Given the description of an element on the screen output the (x, y) to click on. 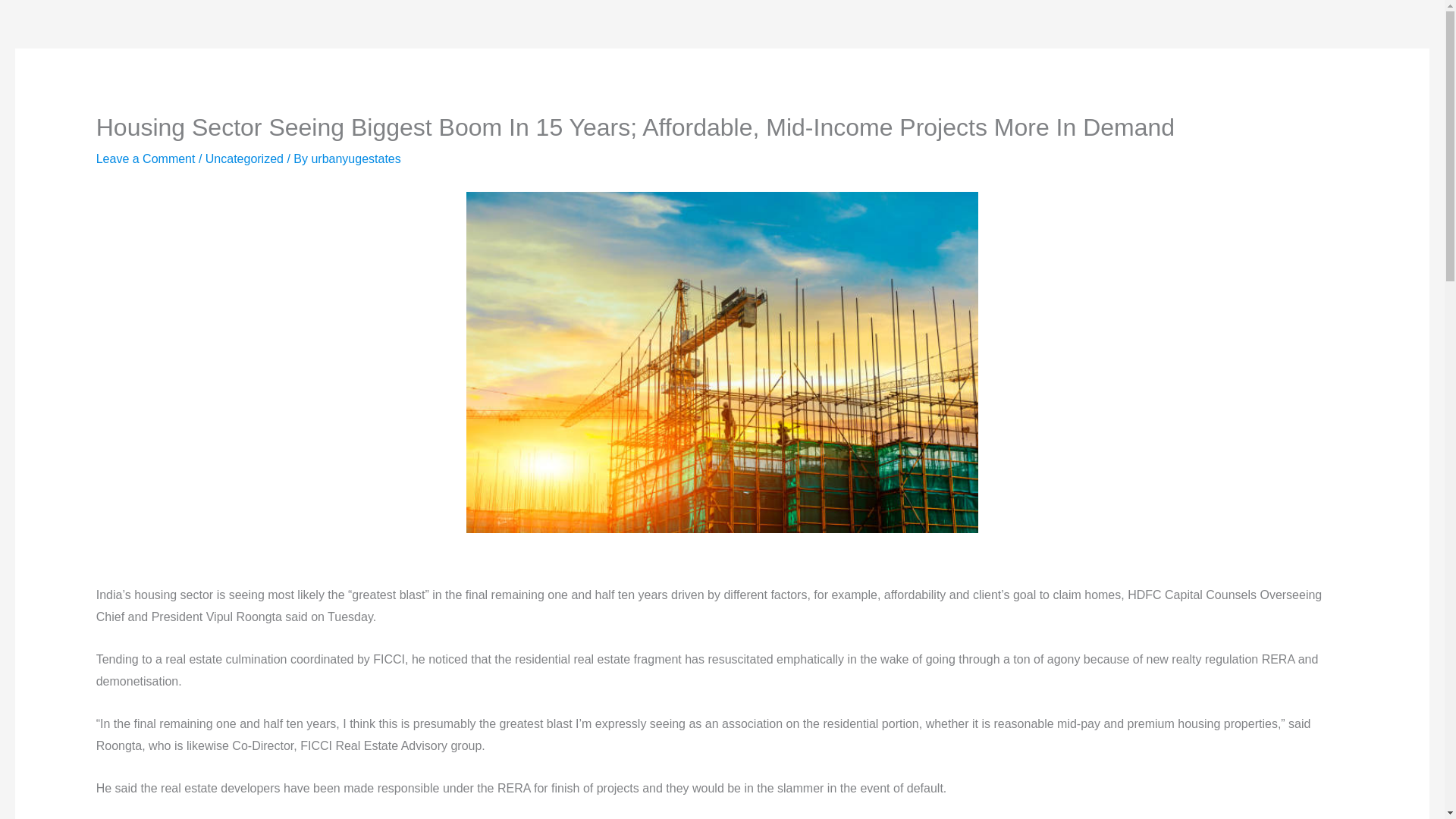
Uncategorized (244, 158)
View all posts by urbanyugestates (355, 158)
urbanyugestates (355, 158)
Leave a Comment (145, 158)
